Given the description of an element on the screen output the (x, y) to click on. 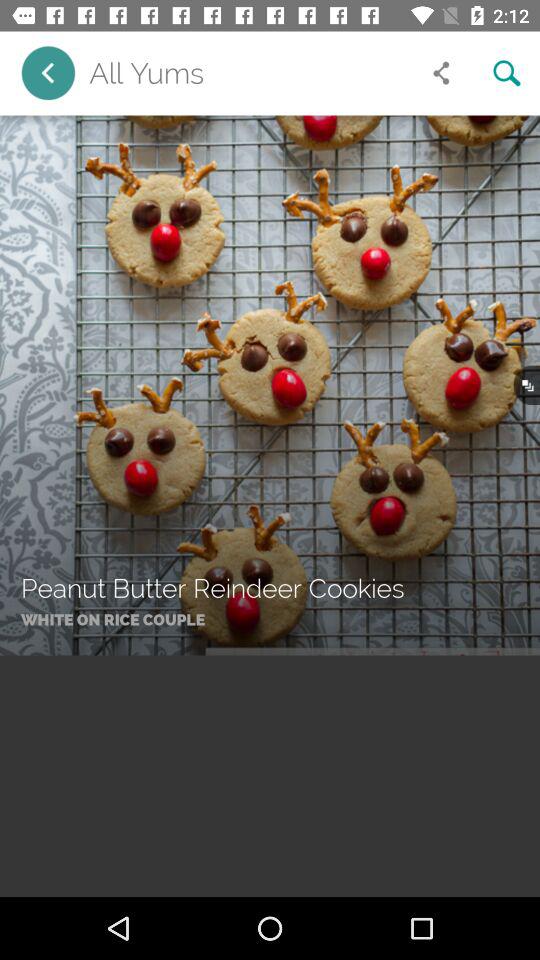
press all yums item (248, 73)
